Given the description of an element on the screen output the (x, y) to click on. 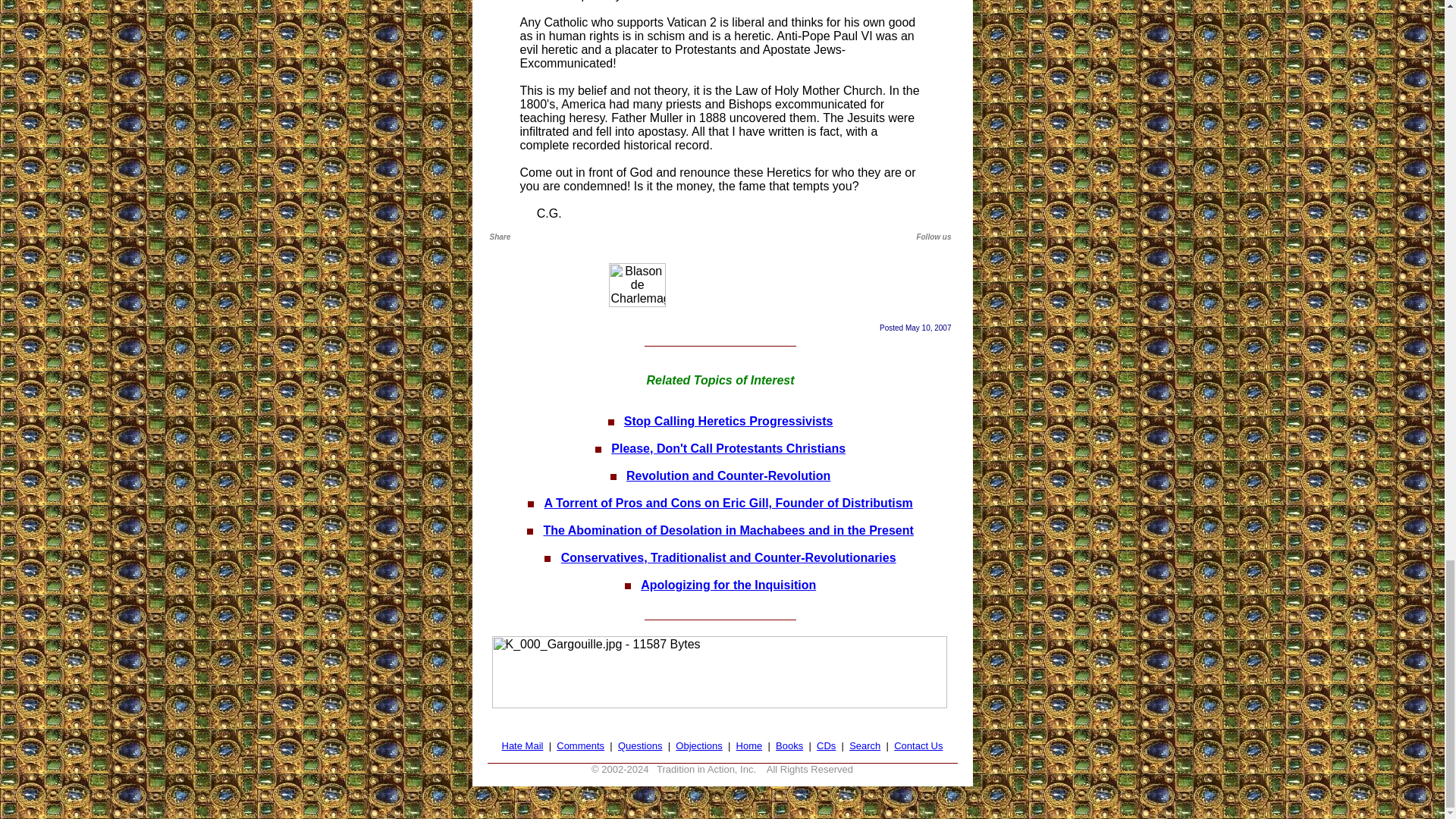
Questions (639, 745)
Conservatives, Traditionalist and Counter-Revolutionaries (728, 557)
Please, Don't Call Protestants Christians (728, 448)
Stop Calling Heretics Progressivists (728, 420)
Objections (698, 745)
Revolution and Counter-Revolution (727, 475)
Comments (580, 745)
Apologizing for the Inquisition (727, 584)
Hate Mail (522, 745)
